Given the description of an element on the screen output the (x, y) to click on. 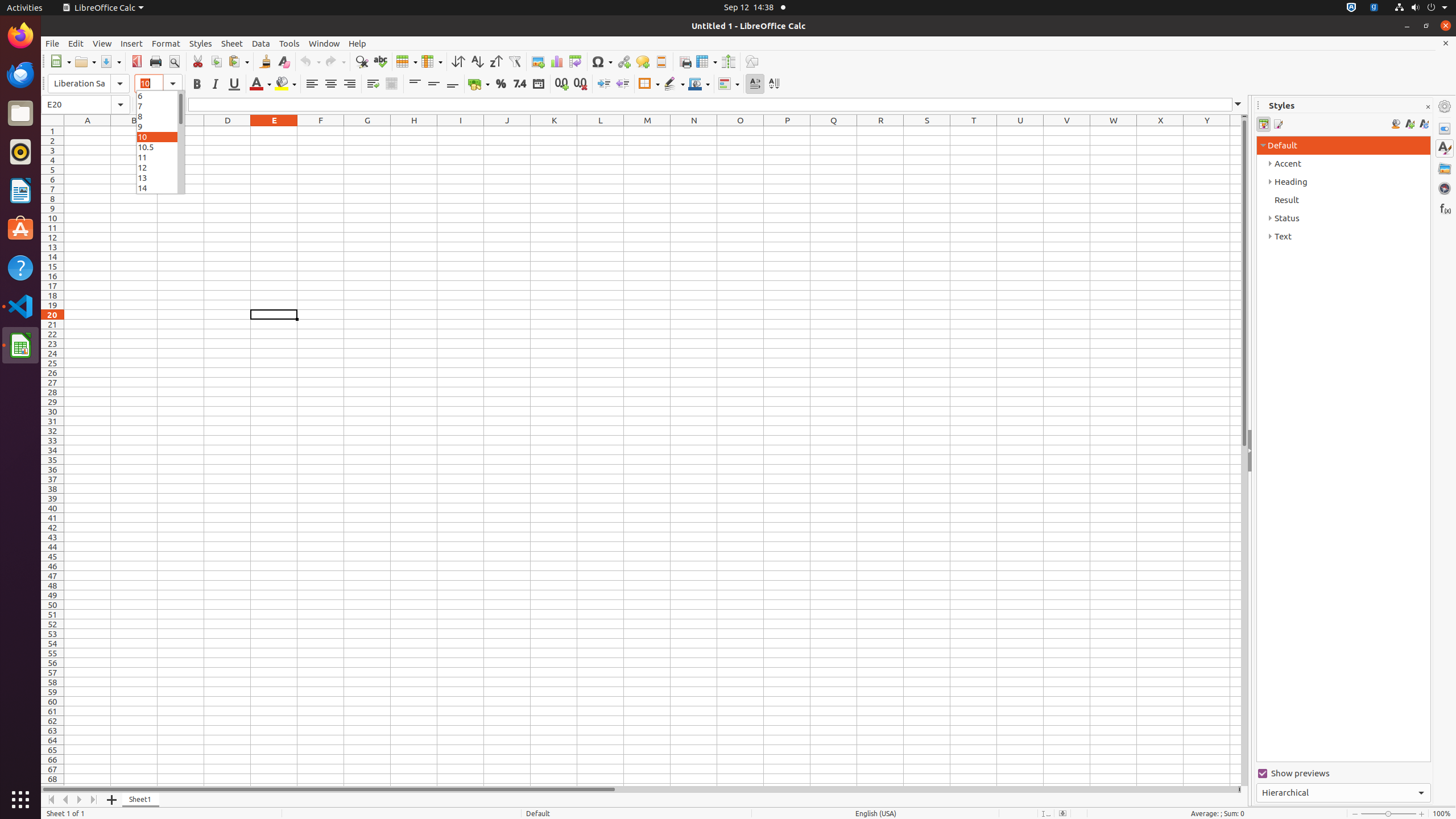
Comment Element type: push-button (642, 61)
Cut Element type: push-button (197, 61)
Conditional Element type: push-button (728, 83)
Sheet Element type: menu (231, 43)
Redo Element type: push-button (334, 61)
